Given the description of an element on the screen output the (x, y) to click on. 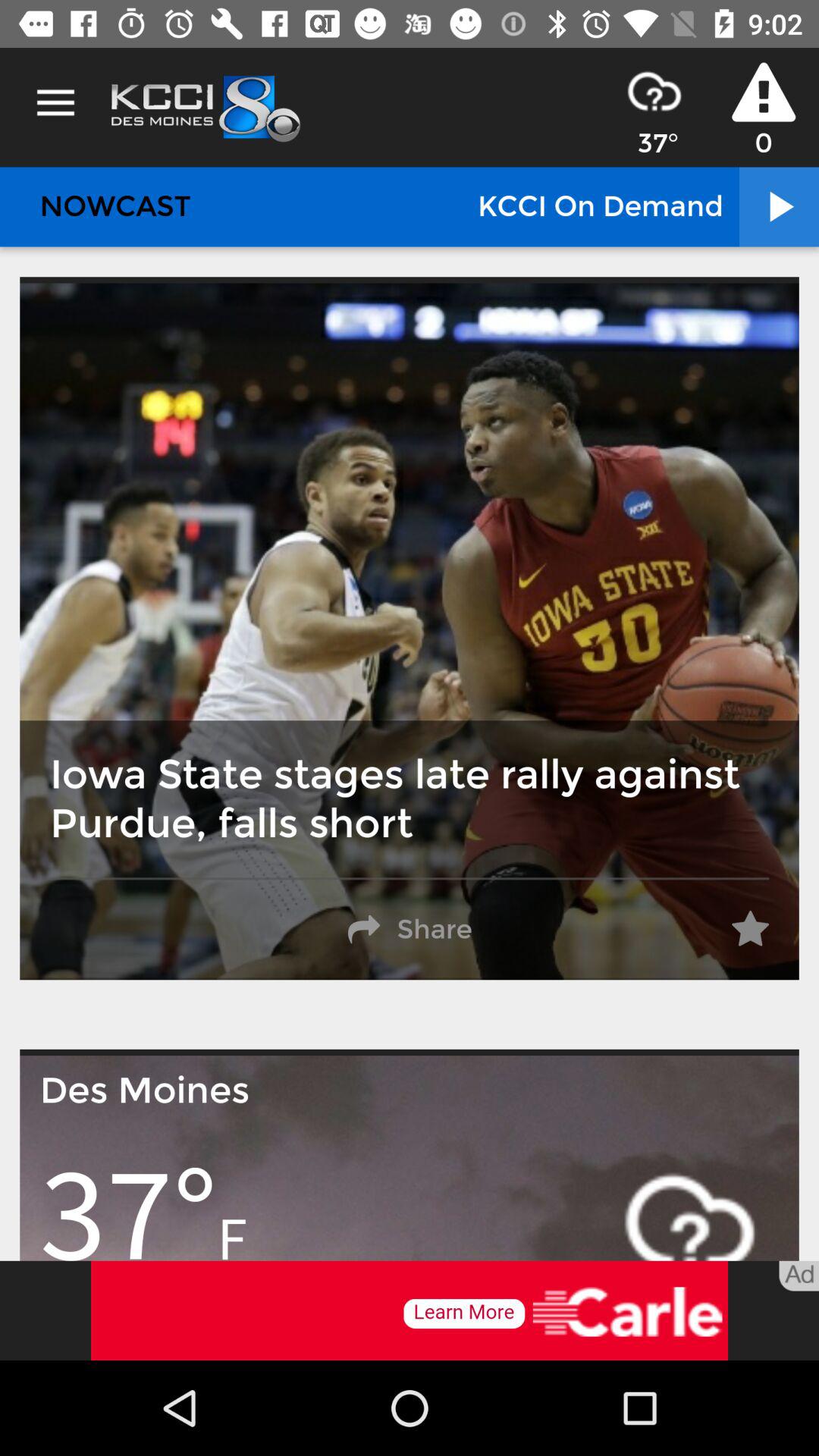
see the advertisement (409, 1310)
